Given the description of an element on the screen output the (x, y) to click on. 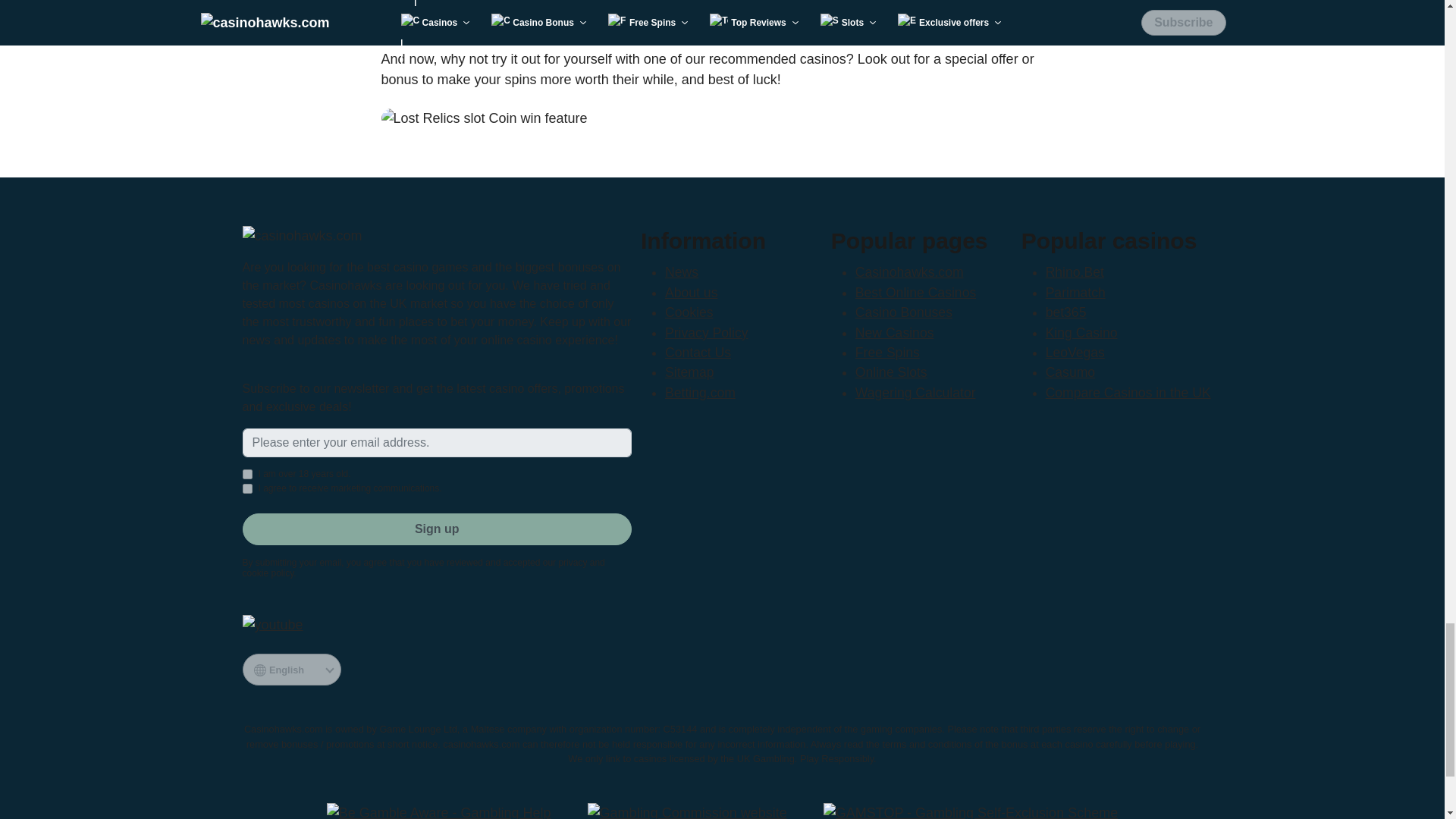
on (247, 488)
on (247, 474)
